Given the description of an element on the screen output the (x, y) to click on. 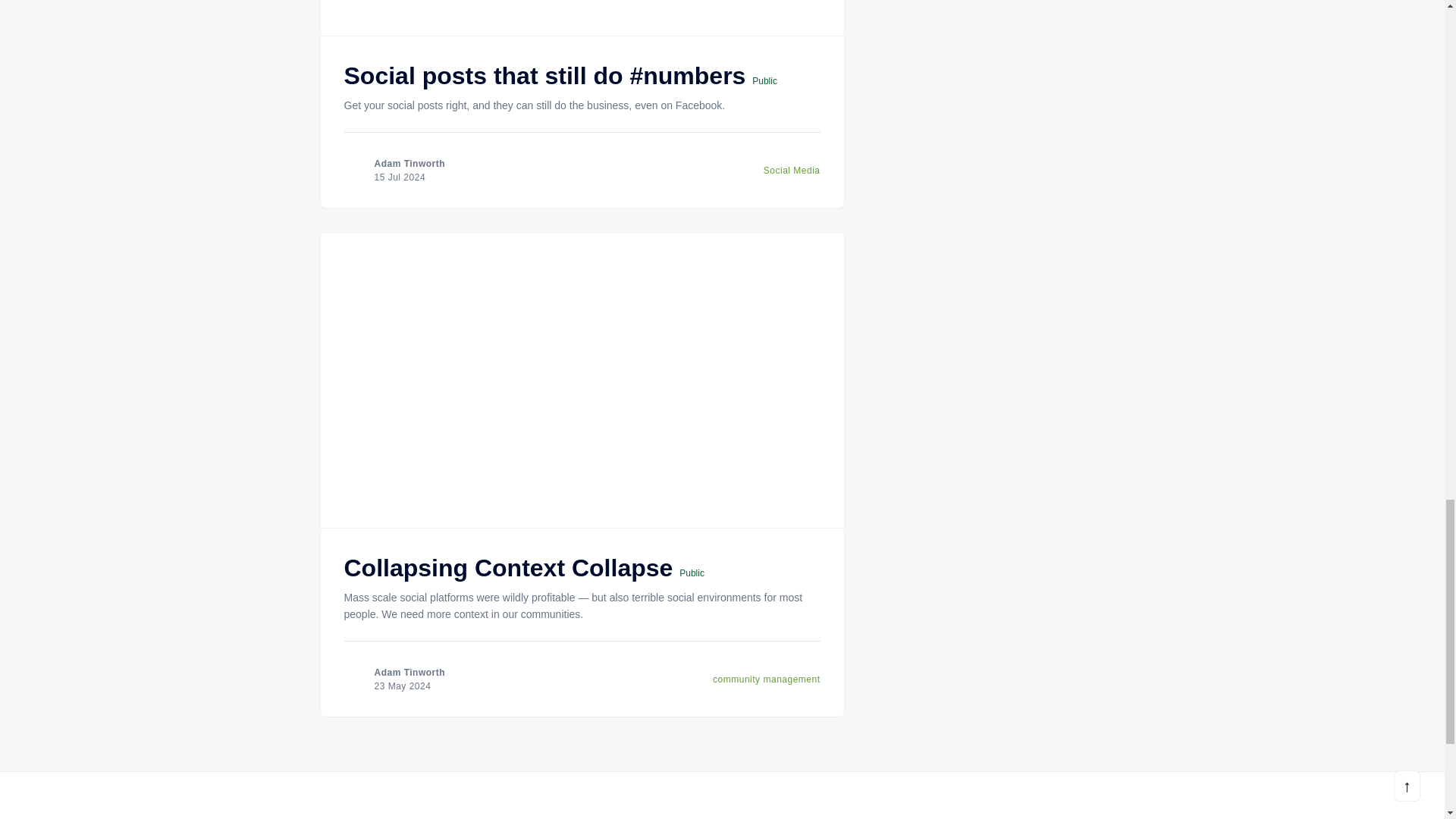
Adam Tinworth (409, 163)
